Given the description of an element on the screen output the (x, y) to click on. 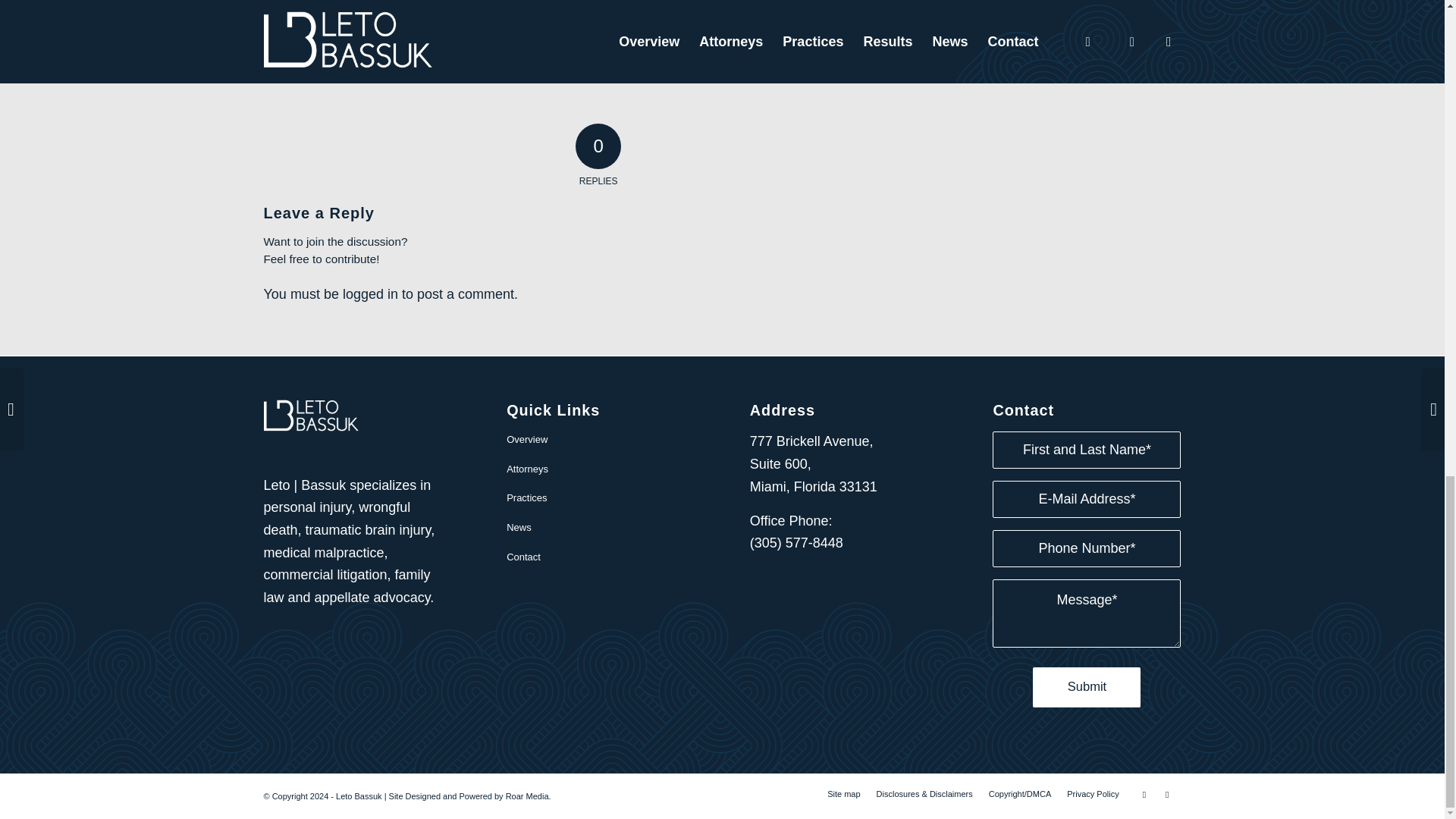
Submit (1086, 687)
